Given the description of an element on the screen output the (x, y) to click on. 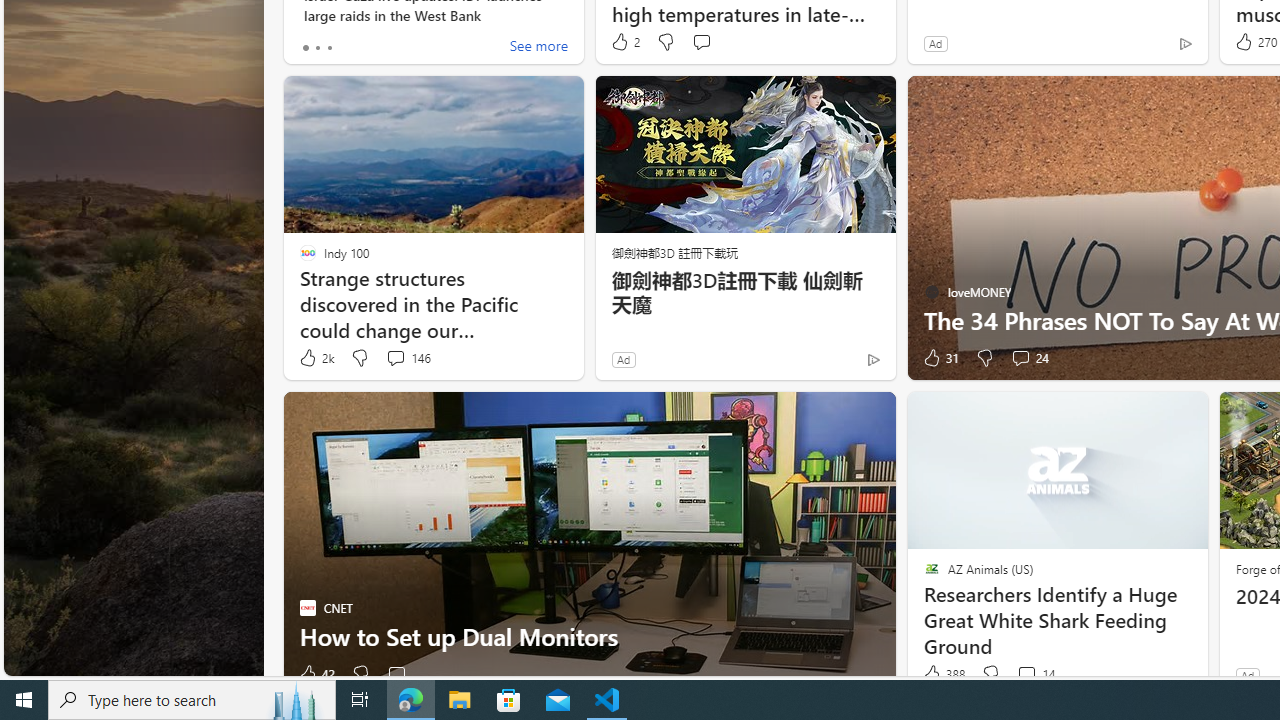
Start the conversation (396, 673)
2 Like (624, 42)
View comments 24 Comment (1019, 357)
Start the conversation (395, 674)
tab-2 (328, 47)
42 Like (316, 674)
Dislike (989, 674)
388 Like (942, 674)
2k Like (315, 358)
tab-1 (317, 47)
View comments 14 Comment (1035, 674)
Ad Choice (873, 359)
tab-0 (305, 47)
View comments 14 Comment (1026, 673)
